Given the description of an element on the screen output the (x, y) to click on. 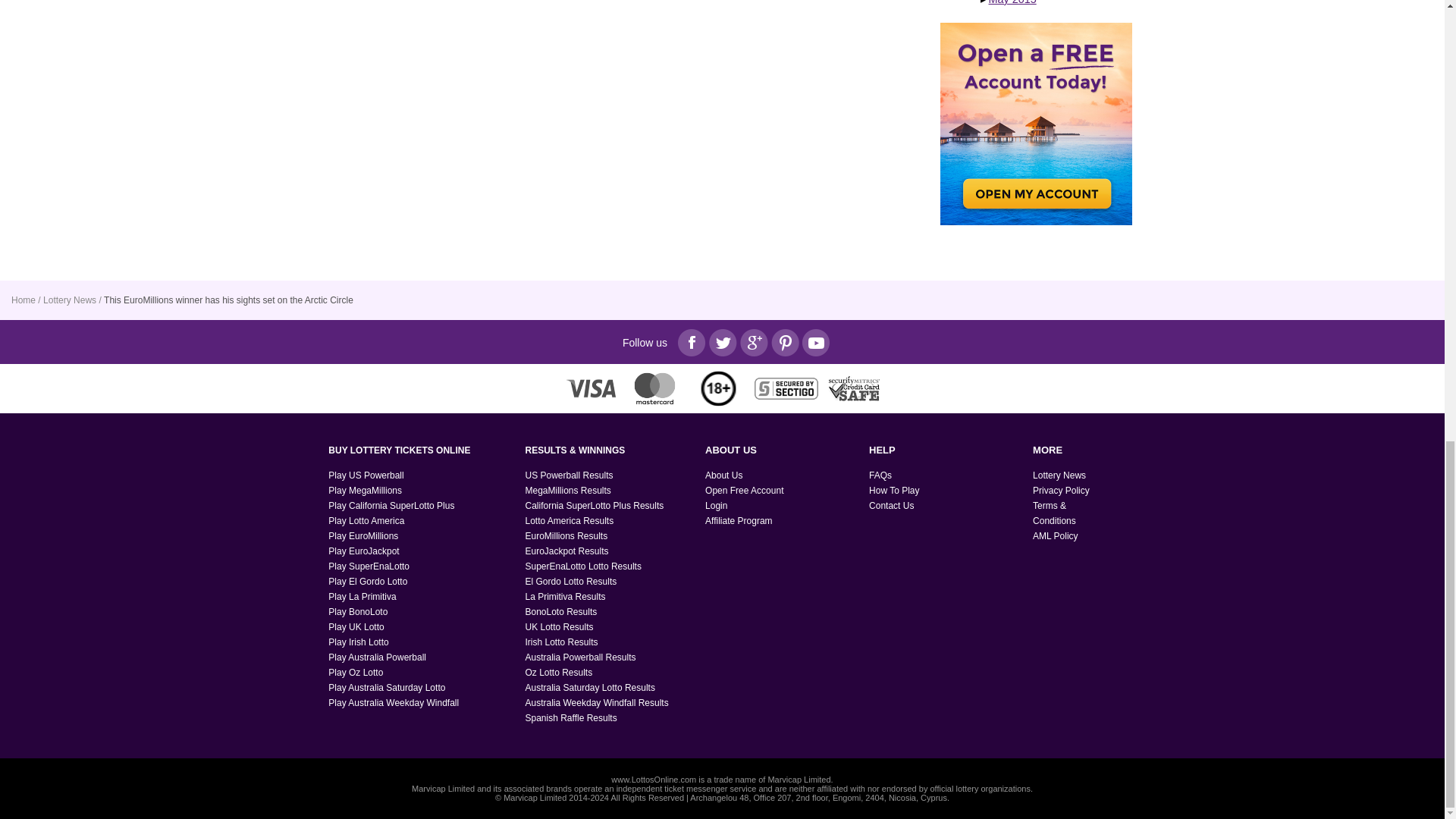
Buy Megamillions tickets online (365, 490)
Buy Australia Weekday Windfall Lotto tickets online (393, 702)
Buy California SuperLotto Plus tickets online (391, 505)
Buy Oz Lotto tickets online (355, 672)
Buy UK Lotto tickets online (356, 626)
Buy Australia Powerball tickets online (377, 656)
Buy SuperEnaLotto tickets online (368, 581)
Buy SuperEnaLotto tickets online (369, 566)
Buy Australia Saturday Lotto tickets online (387, 687)
Buy Euromillions tickets online (363, 535)
Buy Lotto America tickets online (366, 520)
Buy SuperEnaLotto tickets online (362, 596)
Buy US Powerball tickets online (366, 475)
Buy SuperEnaLotto tickets online (358, 611)
Buy EuroJackpot tickets online (363, 551)
